Given the description of an element on the screen output the (x, y) to click on. 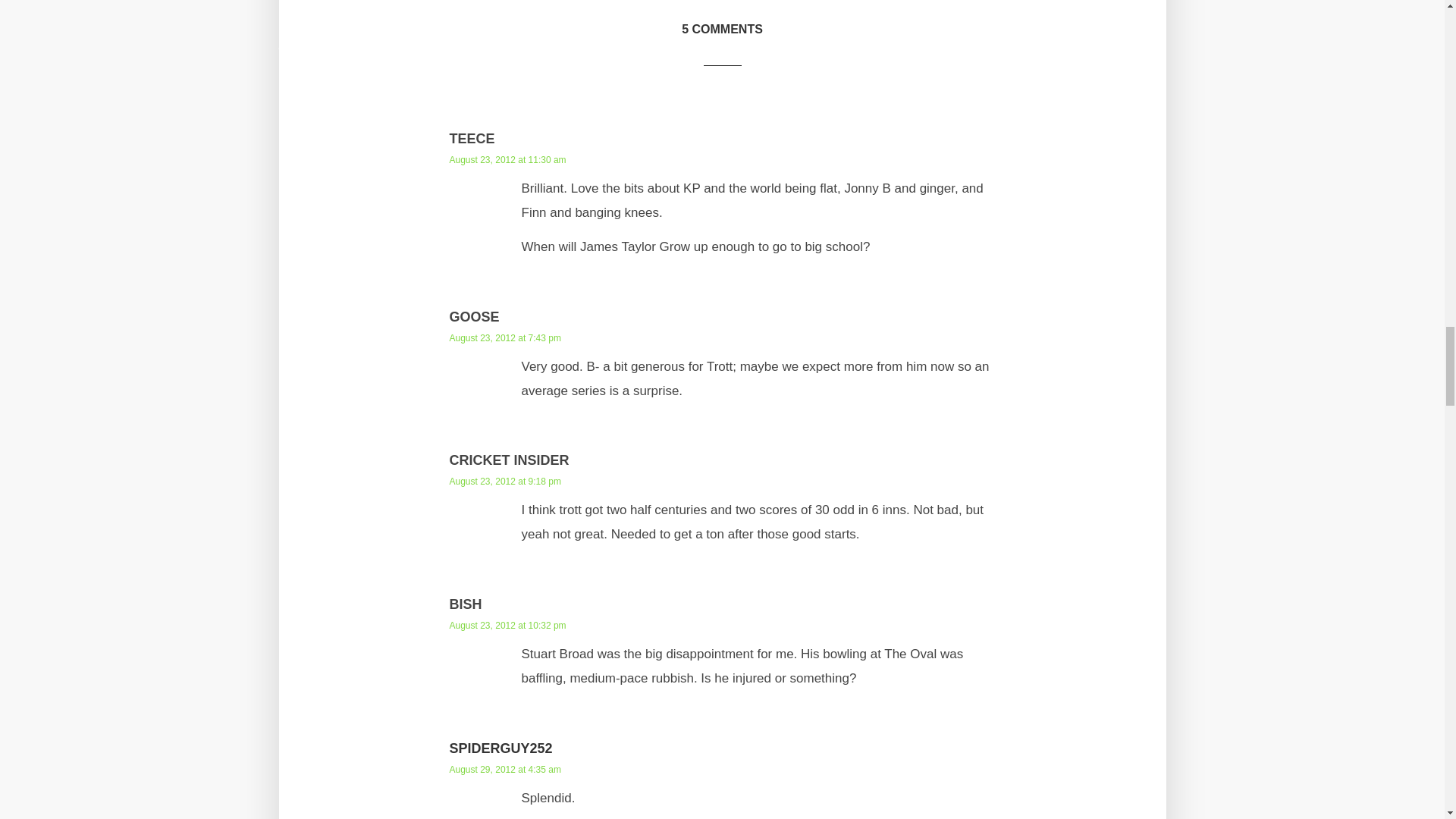
August 23, 2012 at 9:18 pm (504, 480)
August 23, 2012 at 11:30 am (507, 159)
SPIDERGUY252 (499, 748)
August 23, 2012 at 7:43 pm (504, 337)
August 23, 2012 at 10:32 pm (507, 624)
August 29, 2012 at 4:35 am (504, 769)
